Given the description of an element on the screen output the (x, y) to click on. 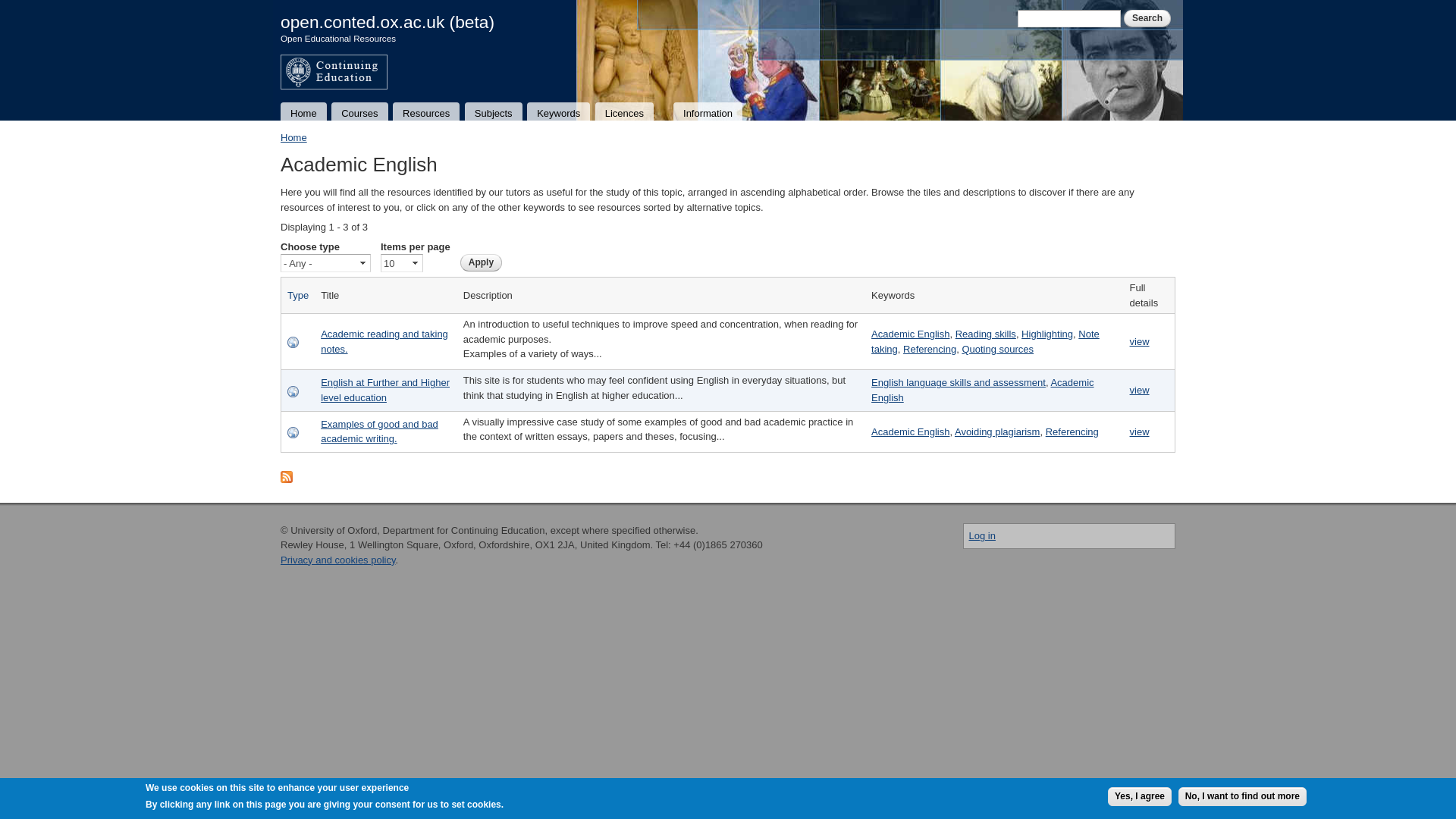
Keywords (558, 112)
Academic English (981, 389)
Referencing (929, 348)
Home (303, 112)
Academic English (909, 333)
English language skills and assessment (957, 382)
Enter the terms you wish to search for. (1069, 18)
view (1139, 431)
view (1139, 389)
Link (292, 391)
Home (388, 21)
Academic reading and taking notes. (384, 341)
Licences (624, 112)
view (1139, 341)
Privacy and cookies policy (338, 559)
